Given the description of an element on the screen output the (x, y) to click on. 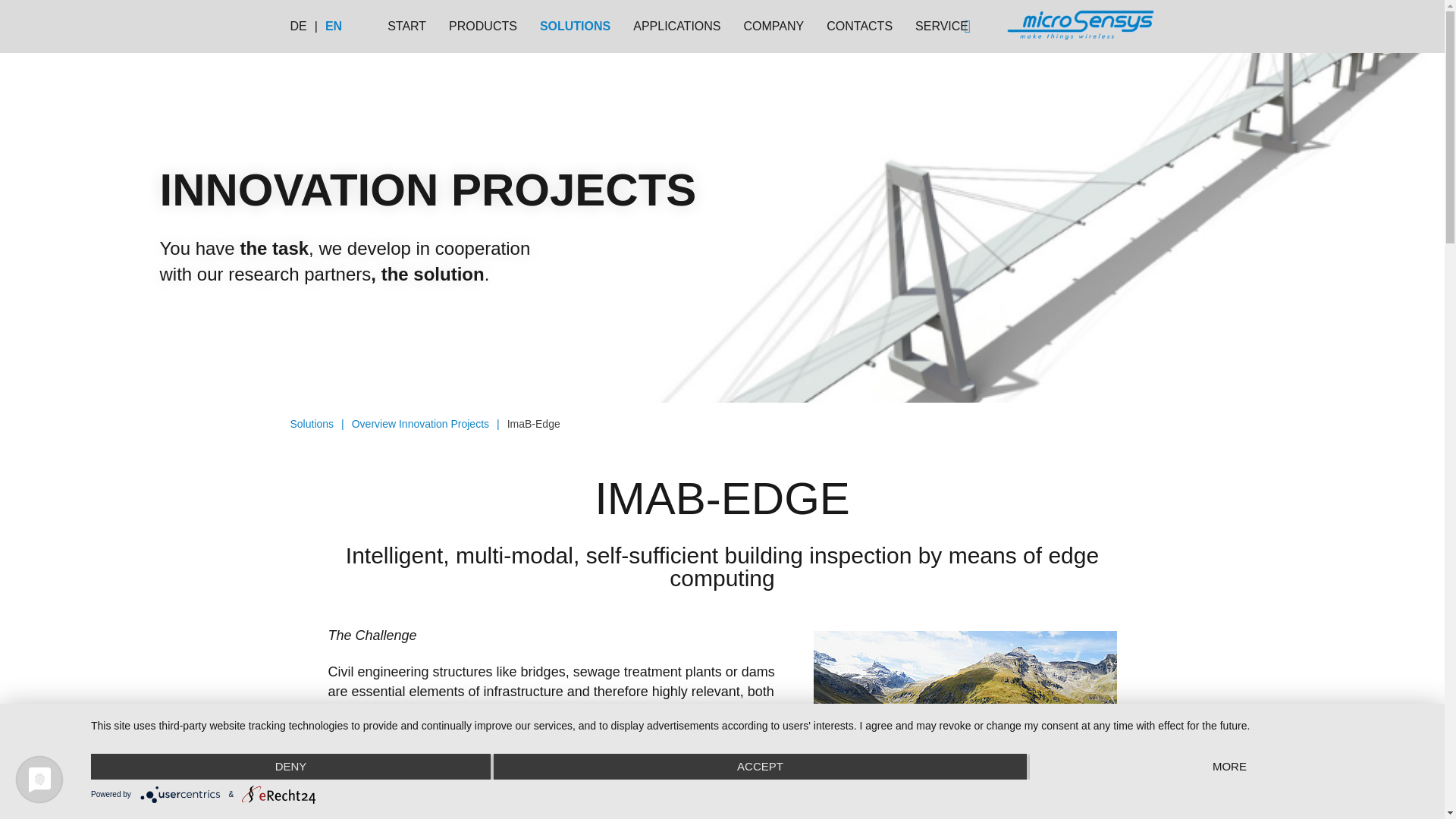
Switch to homepage (1080, 26)
PRODUCTS (483, 32)
Start (406, 32)
Produkt (483, 32)
SOLUTIONS (574, 32)
START (406, 32)
